Given the description of an element on the screen output the (x, y) to click on. 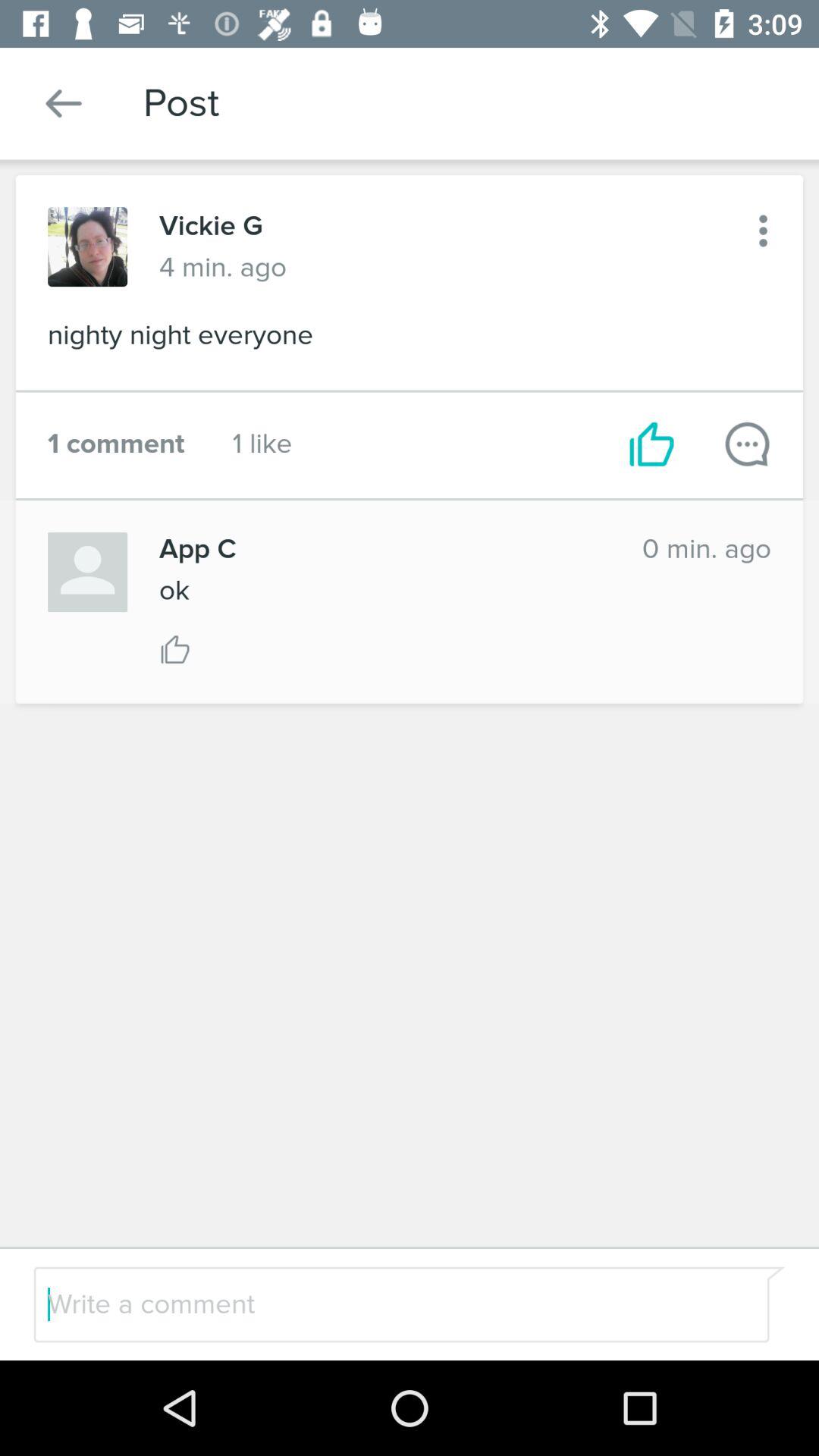
write comment (747, 444)
